Given the description of an element on the screen output the (x, y) to click on. 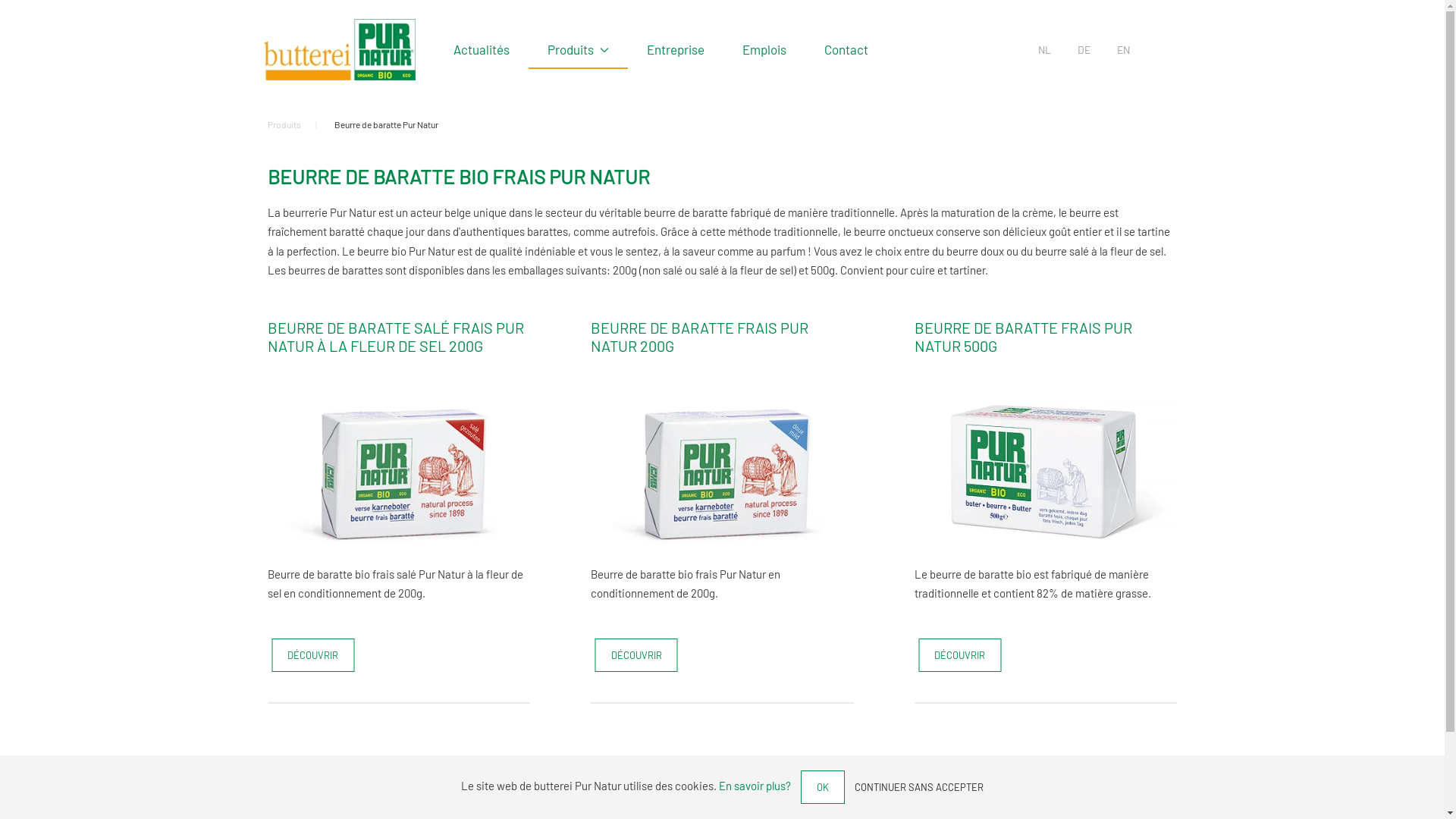
Entreprise Element type: text (675, 49)
Produits Element type: text (283, 124)
Produits Element type: text (577, 49)
NL Element type: text (1044, 49)
DE Element type: text (1084, 49)
Emplois Element type: text (764, 49)
EN Element type: text (1123, 49)
Contact Element type: text (846, 49)
En savoir plus? Element type: text (754, 785)
OK Element type: text (822, 786)
CONTINUER SANS ACCEPTER Element type: text (918, 786)
